Given the description of an element on the screen output the (x, y) to click on. 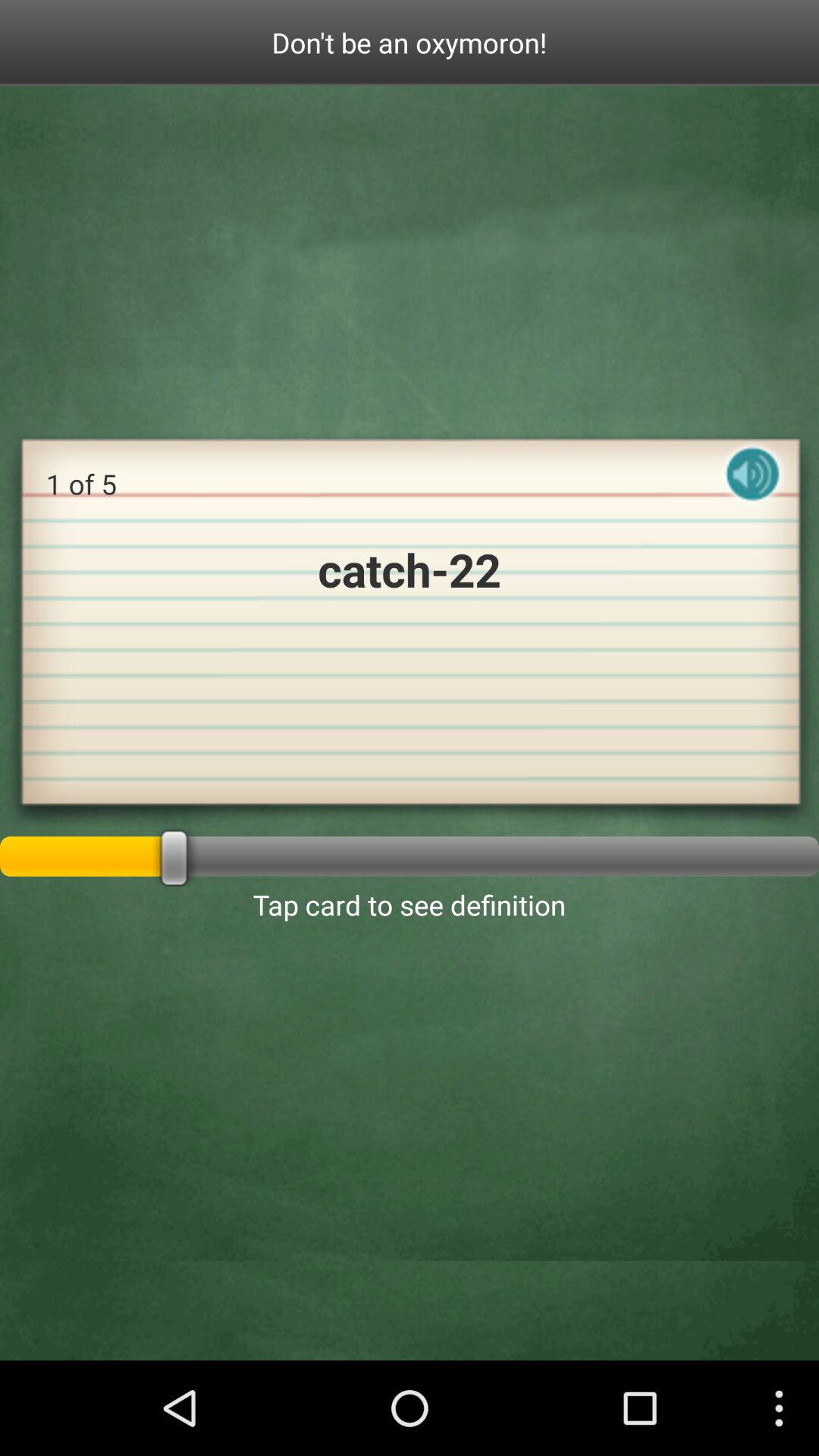
the image is used to mute or turn on the volume (752, 486)
